Given the description of an element on the screen output the (x, y) to click on. 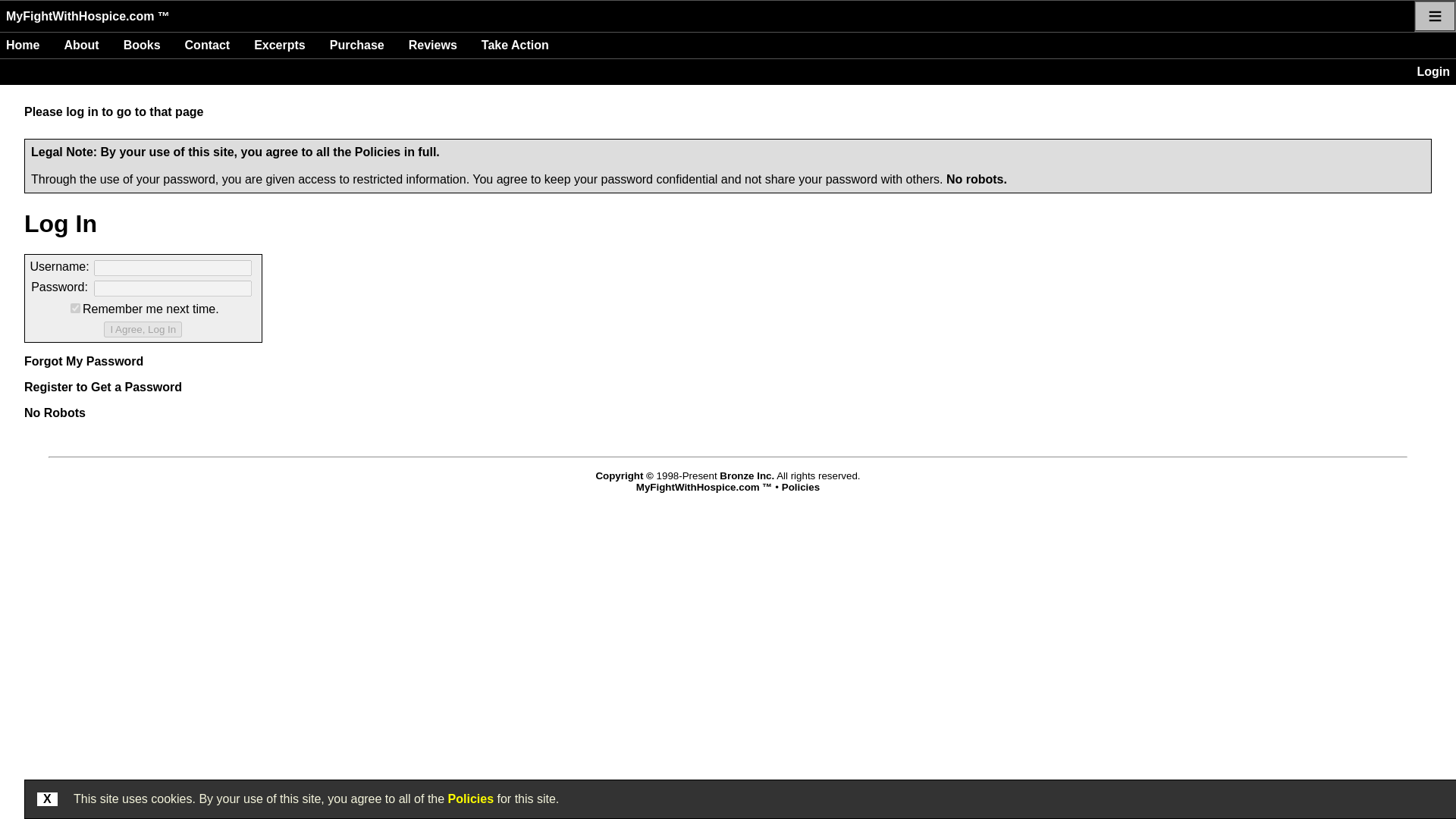
Books (142, 45)
on (74, 307)
Forgot My Password (83, 360)
Home (22, 45)
Policies (377, 151)
Bronze Inc. (746, 475)
Policies (800, 487)
Take Action (515, 45)
I Agree, Log In (142, 329)
Contact (207, 45)
Excerpts (279, 45)
No Robots (54, 412)
Purchase (356, 45)
Reviews (433, 45)
About (81, 45)
